Given the description of an element on the screen output the (x, y) to click on. 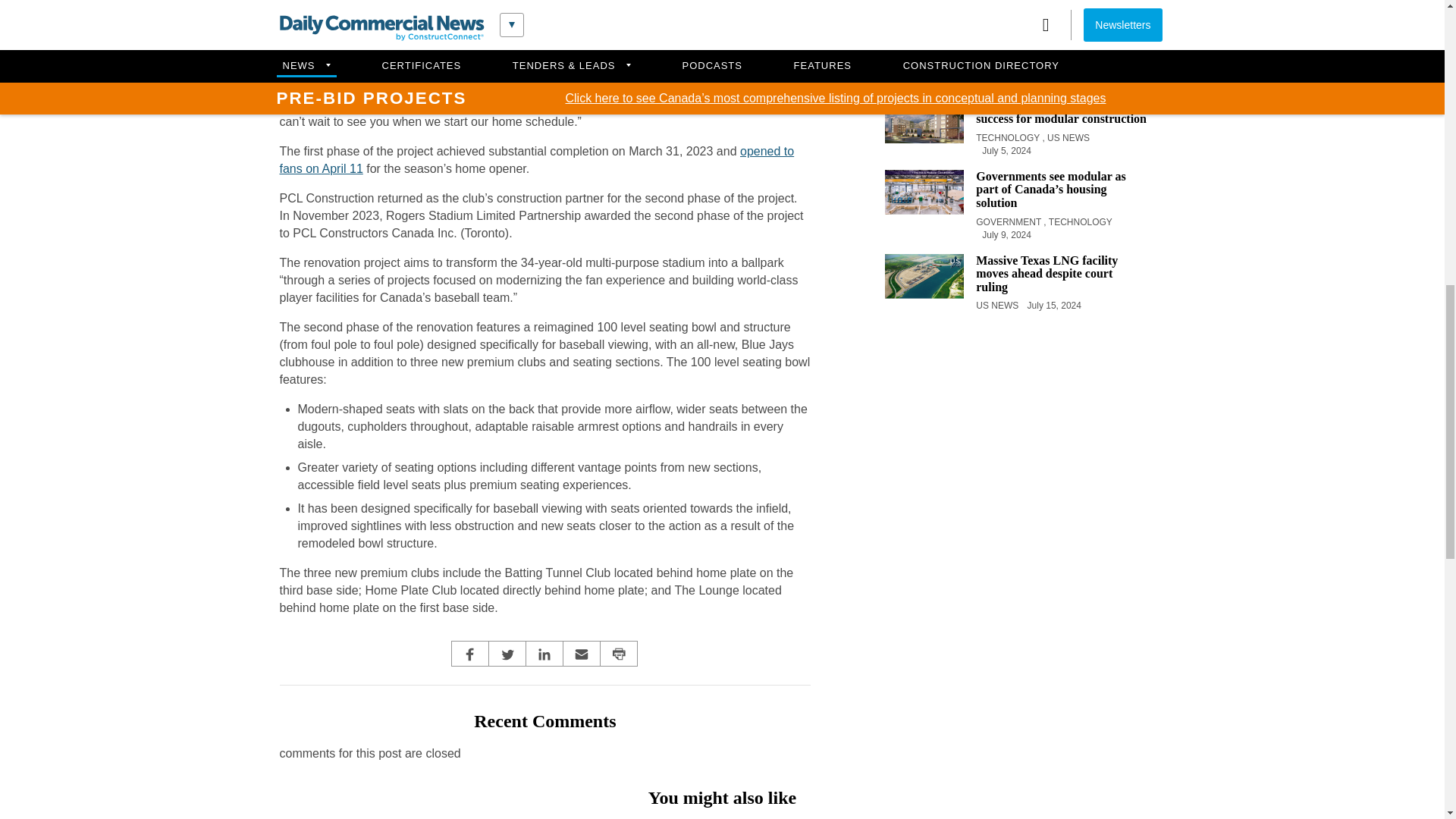
Twitter (506, 654)
Print (619, 653)
Email (581, 654)
LinkedIn (544, 654)
Facebook (470, 654)
